Given the description of an element on the screen output the (x, y) to click on. 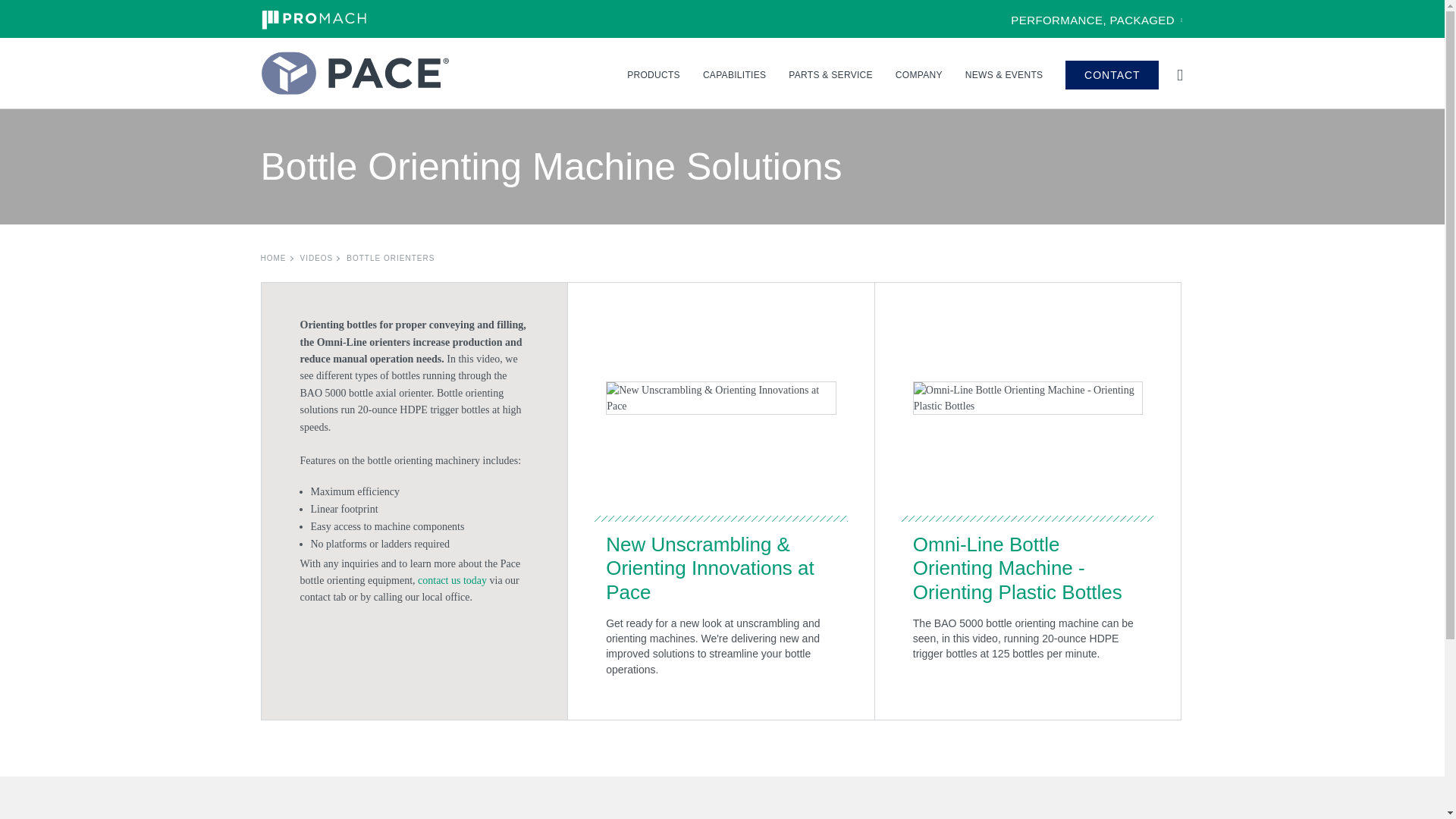
PRODUCTS (653, 74)
PERFORMANCE, PACKAGED (1096, 20)
